Given the description of an element on the screen output the (x, y) to click on. 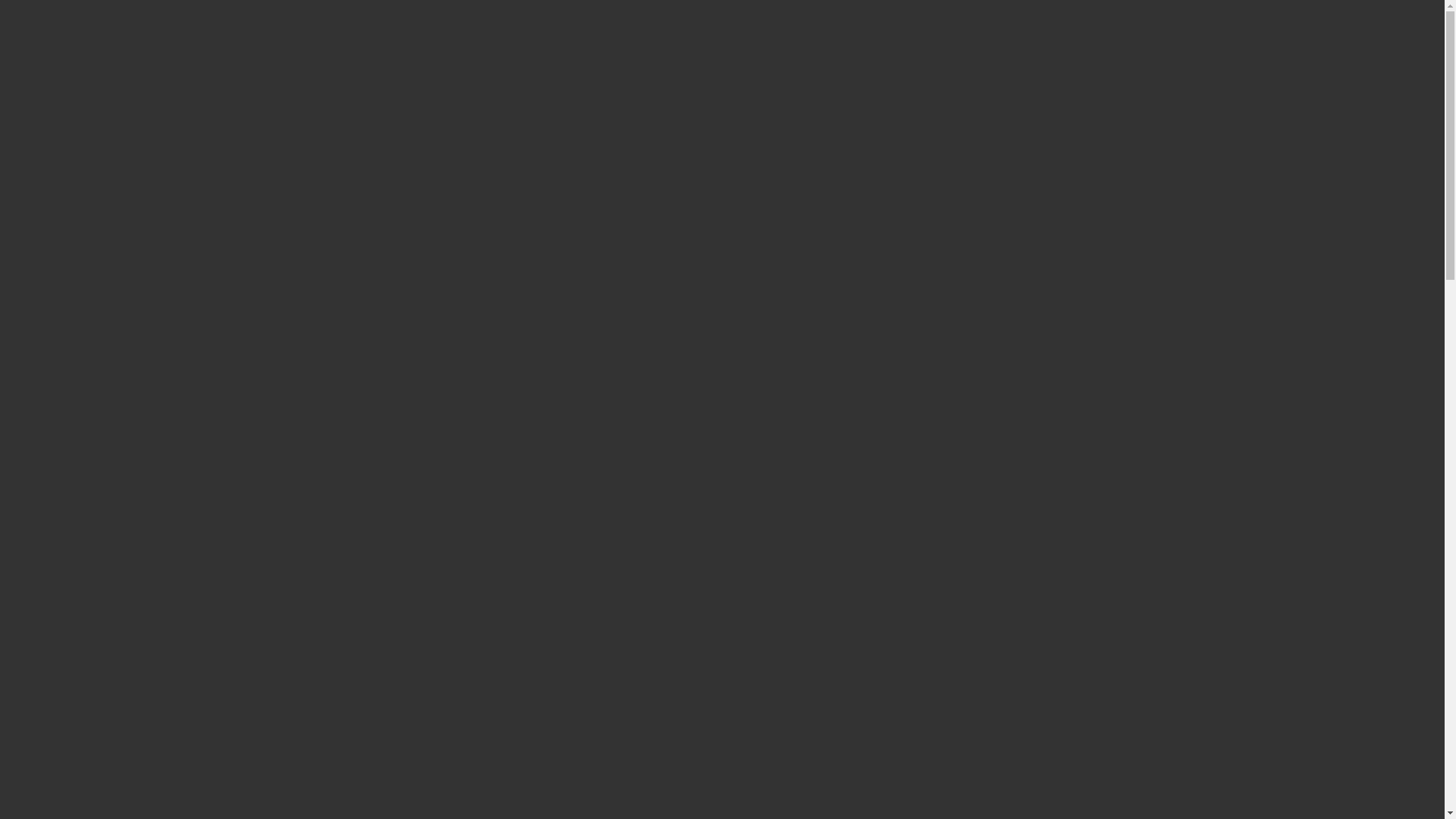
U18 Tigers Element type: text (93, 201)
Infos Element type: text (48, 365)
Offene Jobs Element type: text (95, 283)
News Element type: text (49, 338)
BC Buchrain-Ebikon Element type: text (57, 12)
Verein Element type: text (52, 215)
Impressum Element type: text (63, 392)
Login Element type: text (20, 25)
Vorstand Element type: text (87, 228)
U12 Eagles Element type: text (94, 133)
U14 Panthers Element type: text (99, 160)
Schnuppern Element type: text (95, 256)
U10 Dolphins Element type: text (100, 119)
Team One Element type: text (91, 78)
Bueri Ducks Element type: text (96, 92)
Bilder Element type: text (51, 351)
Teams Element type: text (52, 65)
Senioren Element type: text (87, 106)
Sponsoring Element type: text (63, 297)
U16 Tigers Element type: text (93, 188)
U14 Sharks Element type: text (94, 147)
Sponsoren Element type: text (92, 310)
Passivmitgliedschaft Element type: text (116, 324)
Kontakt Element type: text (55, 379)
Leitbild Element type: text (85, 242)
U16 Bulls Element type: text (91, 174)
Datenschutz Element type: text (96, 406)
Beitrittsgesuch Element type: text (102, 269)
